Given the description of an element on the screen output the (x, y) to click on. 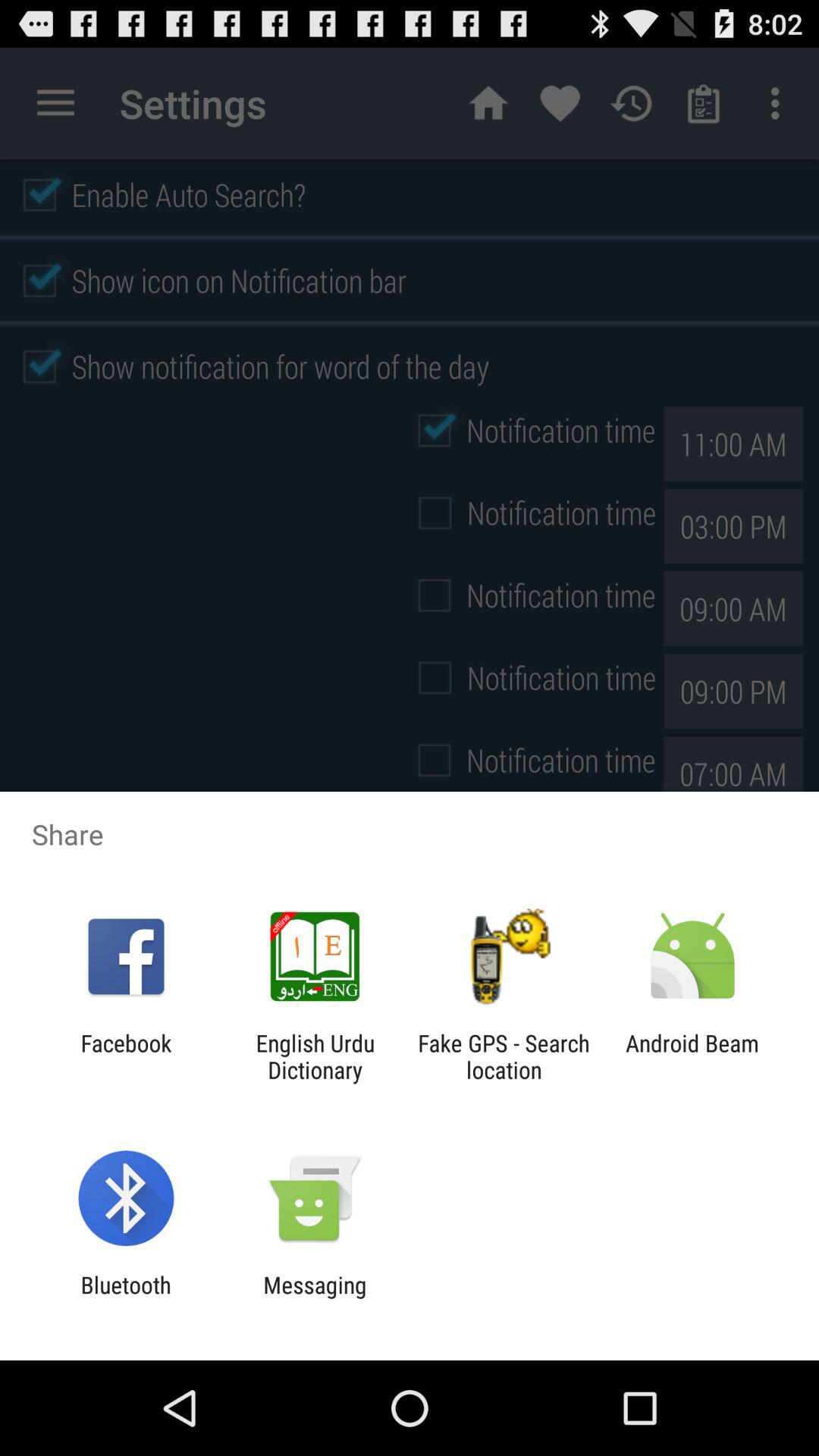
choose the fake gps search (503, 1056)
